Given the description of an element on the screen output the (x, y) to click on. 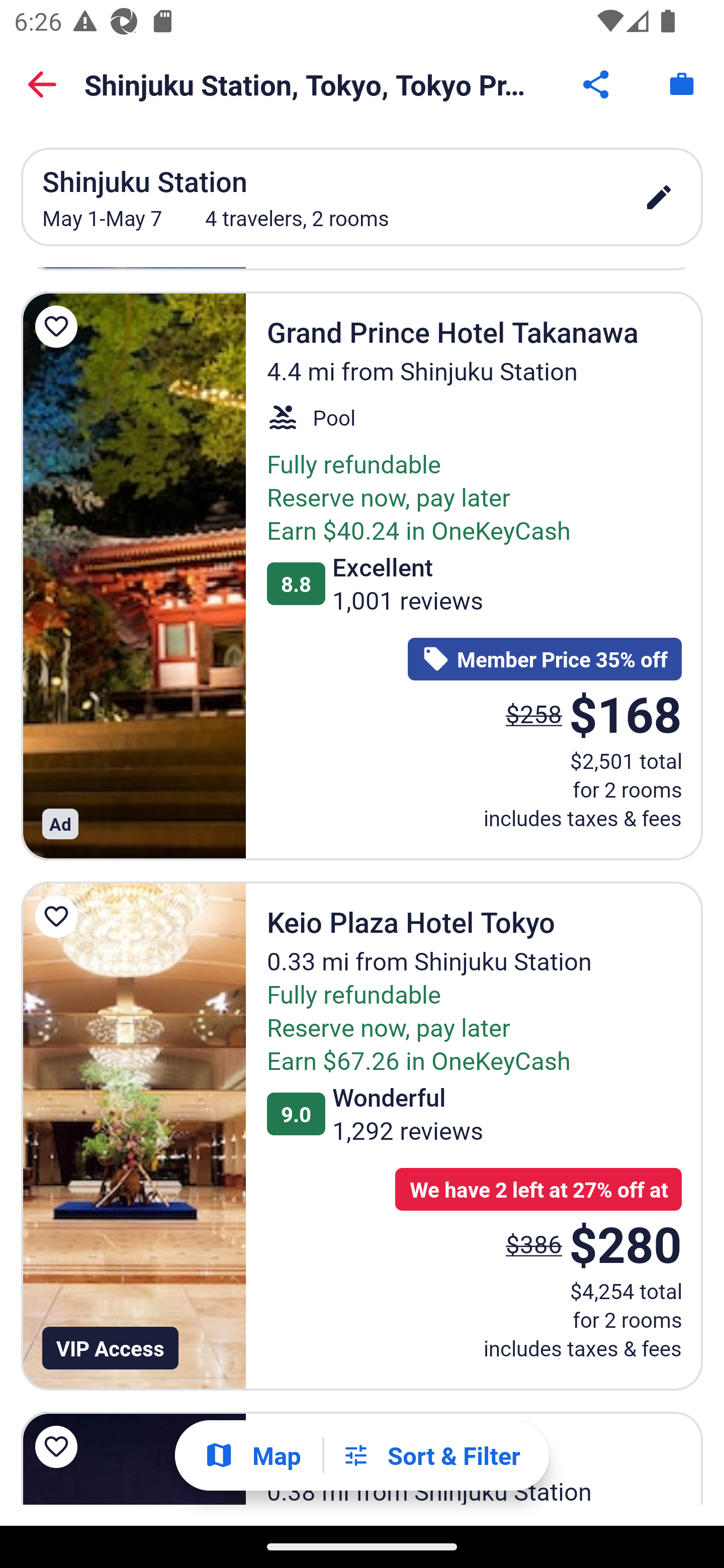
Back (42, 84)
Share Button (597, 84)
Trips. Button (681, 84)
Save Grand Prince Hotel Takanawa to a trip (59, 325)
Grand Prince Hotel Takanawa (133, 575)
$258 The price was $258 (533, 713)
Save Keio Plaza Hotel Tokyo to a trip (59, 916)
Keio Plaza Hotel Tokyo (133, 1135)
$386 The price was $386 (533, 1243)
Save Shinjuku Prince Hotel to a trip (59, 1446)
Filters Sort & Filter Filters Button (430, 1455)
Show map Map Show map Button (252, 1455)
